Given the description of an element on the screen output the (x, y) to click on. 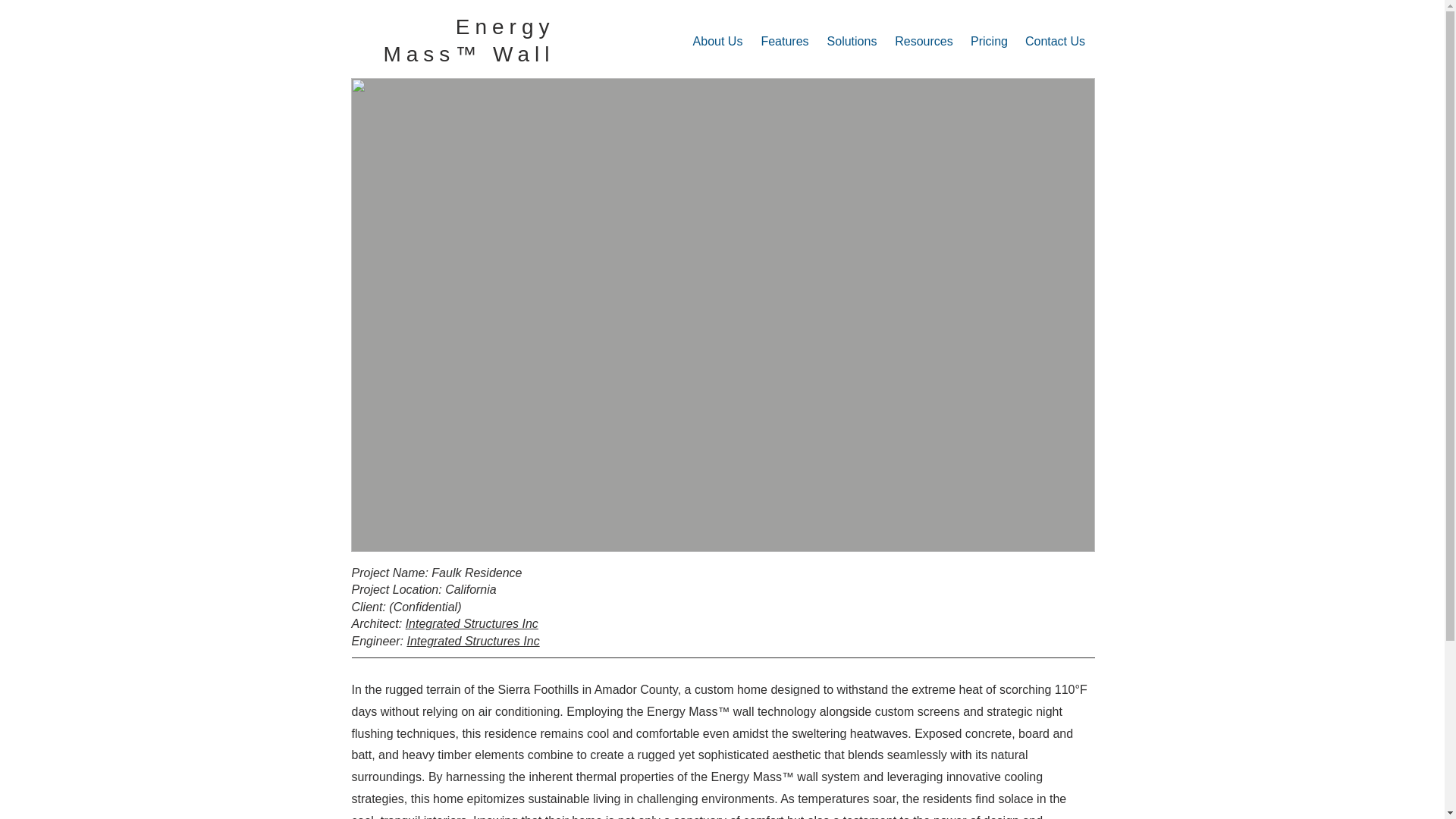
Pricing (988, 41)
Integrated Structures Inc (472, 640)
About Us (718, 41)
Integrated Structures Inc (472, 623)
Contact Us (1054, 41)
Solutions (850, 41)
Features (785, 41)
